Given the description of an element on the screen output the (x, y) to click on. 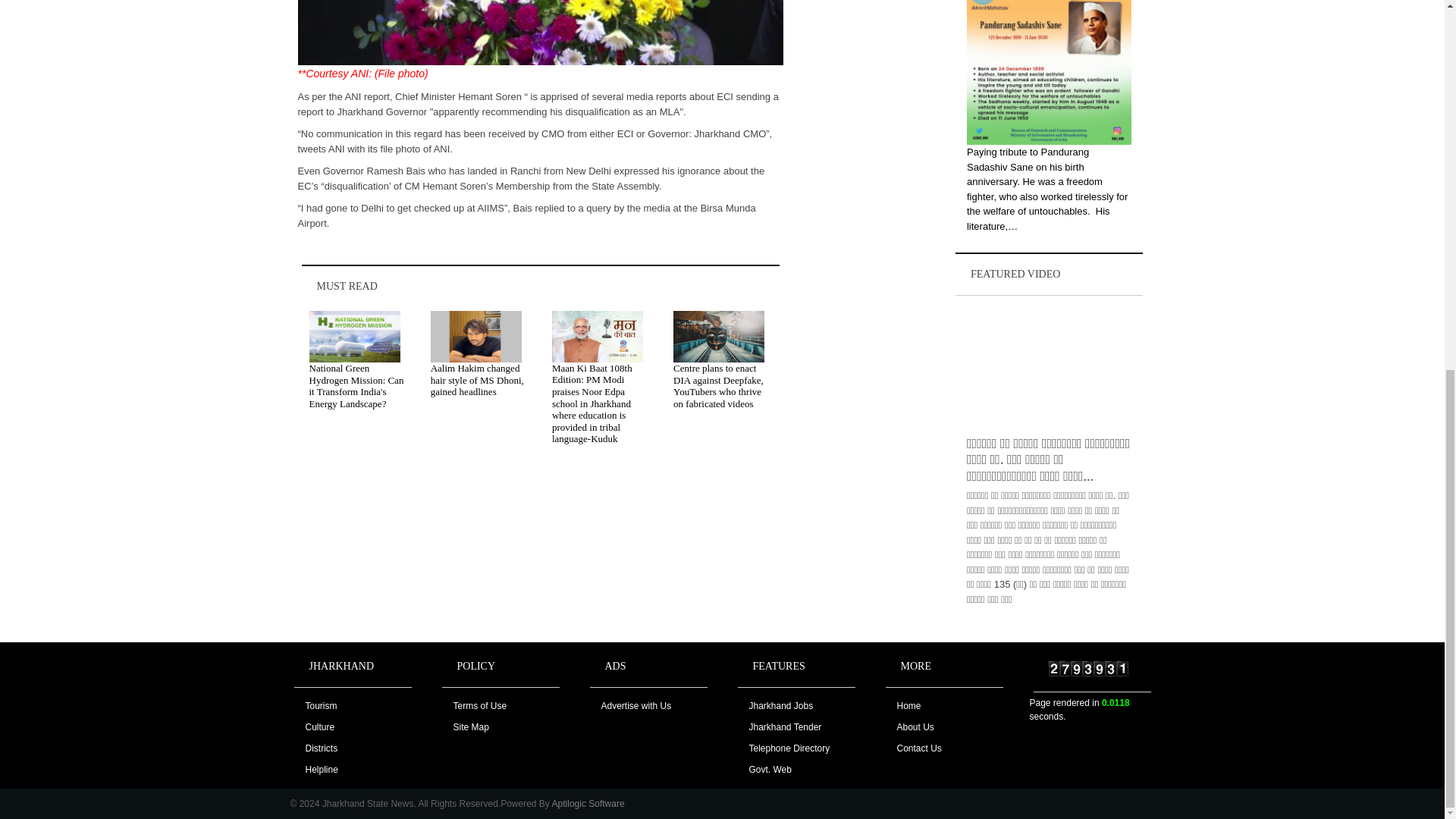
Aalim Hakim changed hair style of MS Dhoni, gained headlines (477, 379)
